Given the description of an element on the screen output the (x, y) to click on. 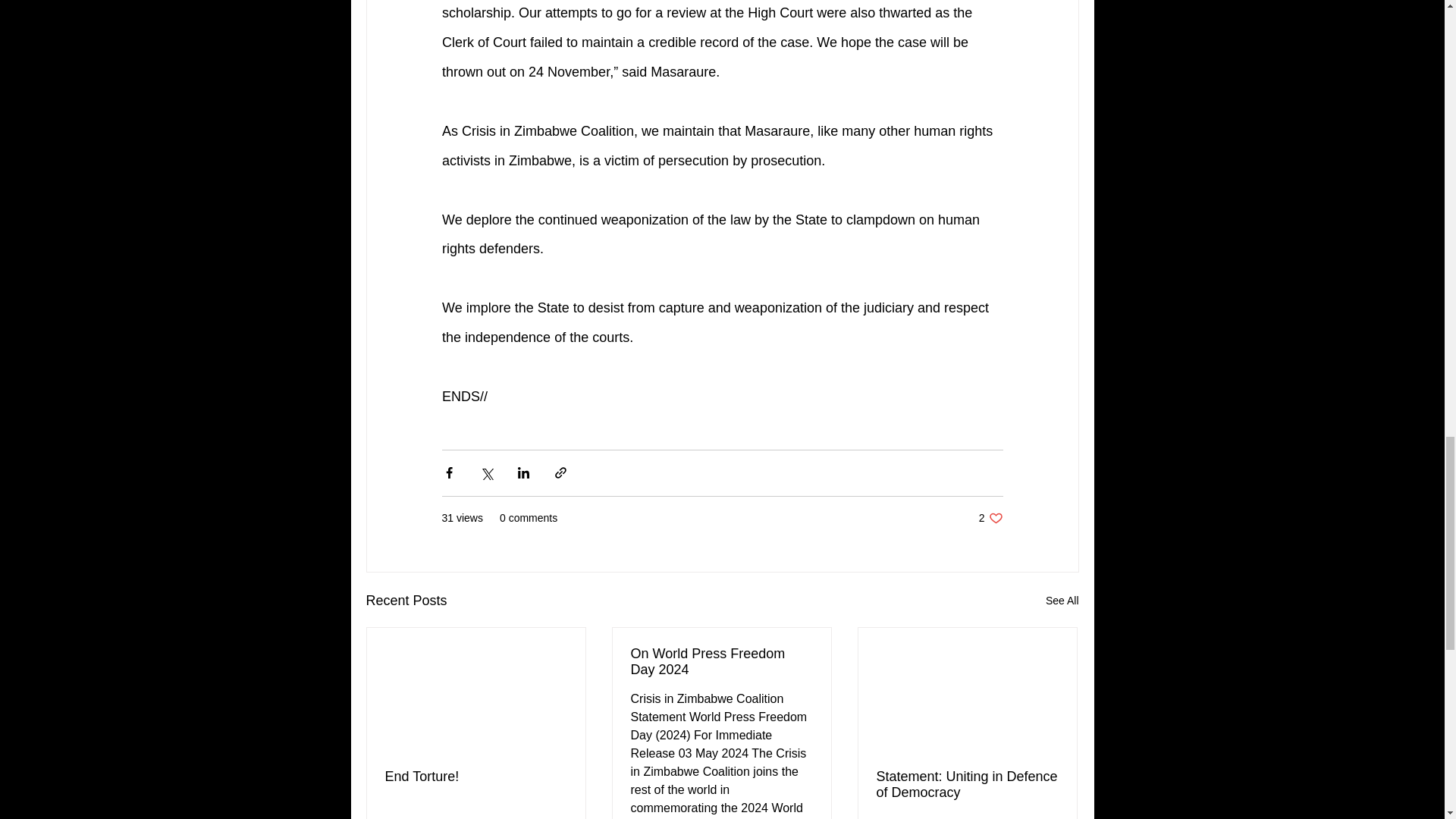
Statement: Uniting in Defence of Democracy (967, 784)
On World Press Freedom Day 2024 (721, 662)
See All (990, 518)
End Torture! (1061, 600)
